Given the description of an element on the screen output the (x, y) to click on. 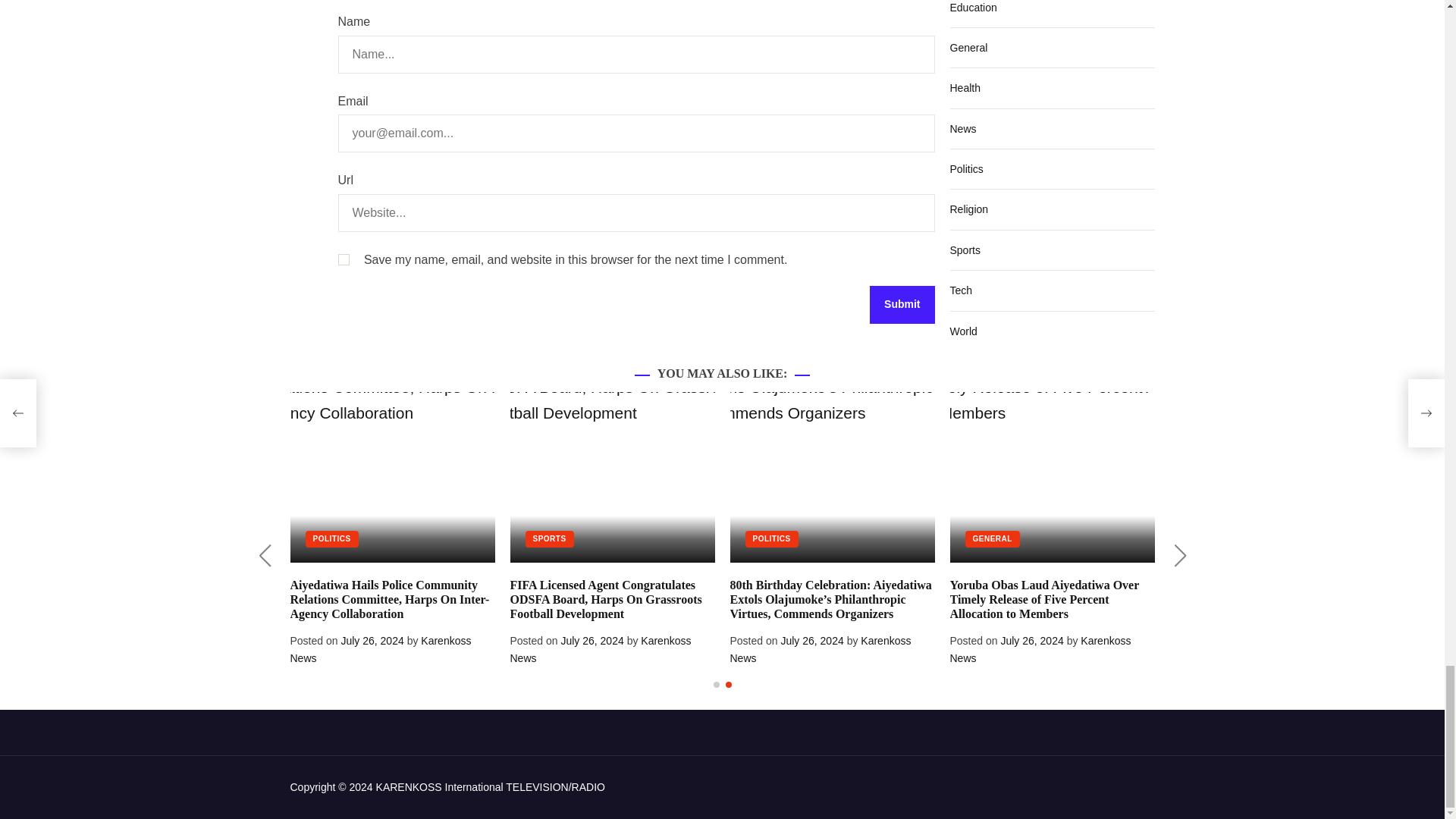
yes (343, 259)
Submit (901, 304)
